Given the description of an element on the screen output the (x, y) to click on. 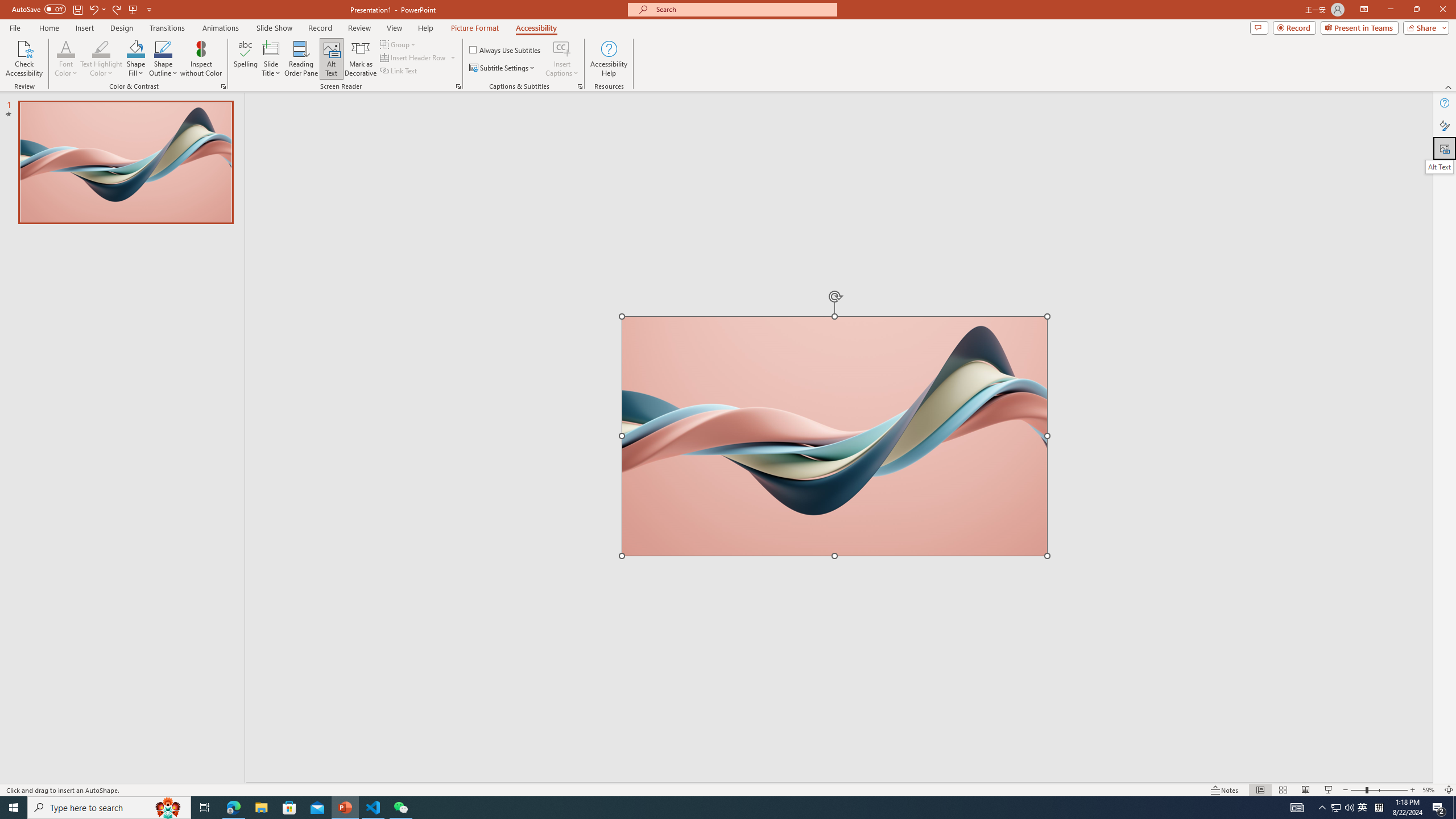
Mark as Decorative (360, 58)
Always Use Subtitles (505, 49)
